Given the description of an element on the screen output the (x, y) to click on. 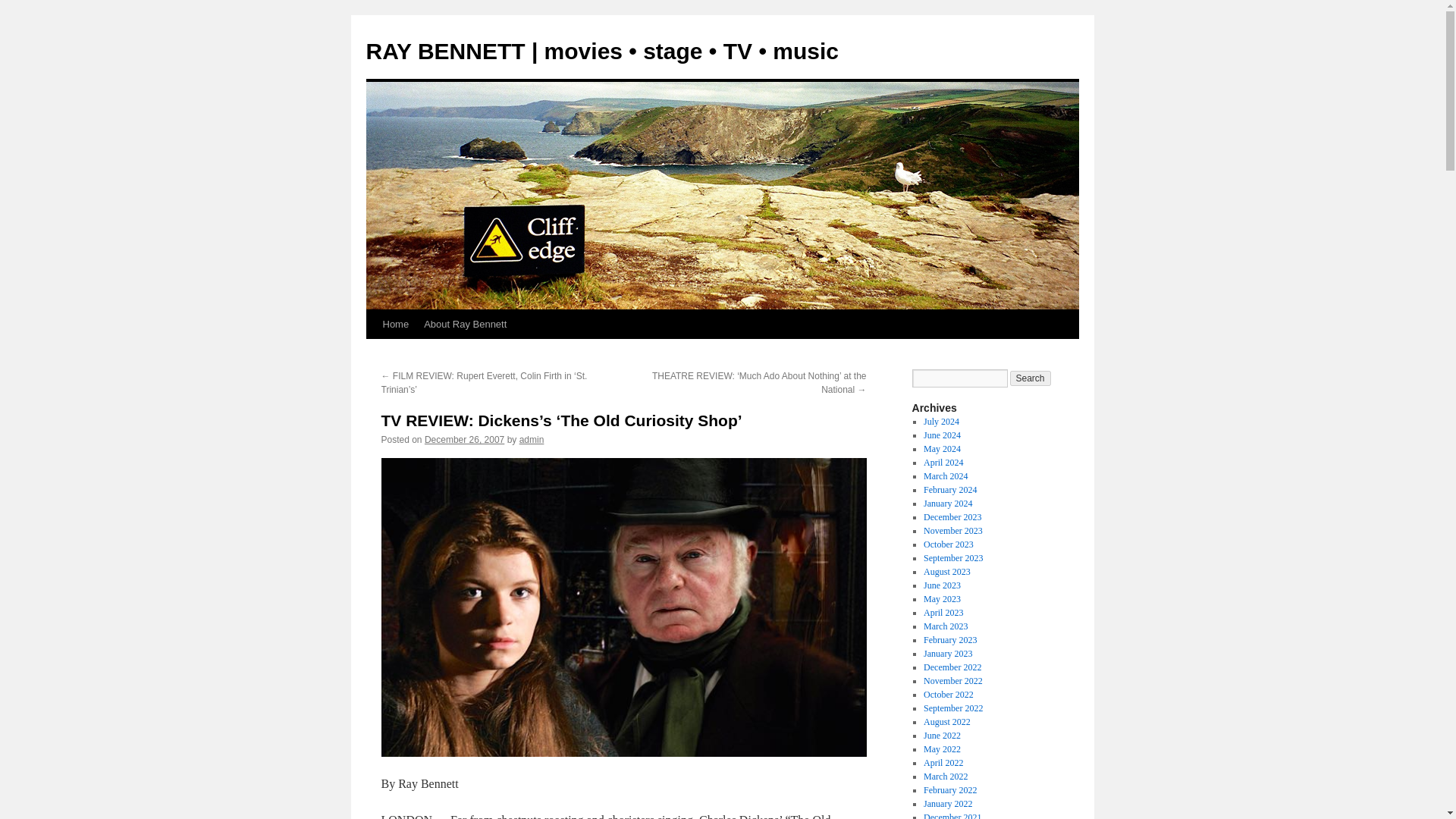
July 2024 (941, 421)
December 2023 (952, 516)
April 2024 (942, 462)
January 2024 (947, 502)
Search (1030, 378)
December 26, 2007 (464, 439)
May 2024 (941, 448)
February 2024 (949, 489)
View all posts by admin (531, 439)
admin (531, 439)
March 2024 (945, 475)
Home (395, 324)
June 2024 (941, 434)
October 2023 (948, 543)
About Ray Bennett (464, 324)
